Given the description of an element on the screen output the (x, y) to click on. 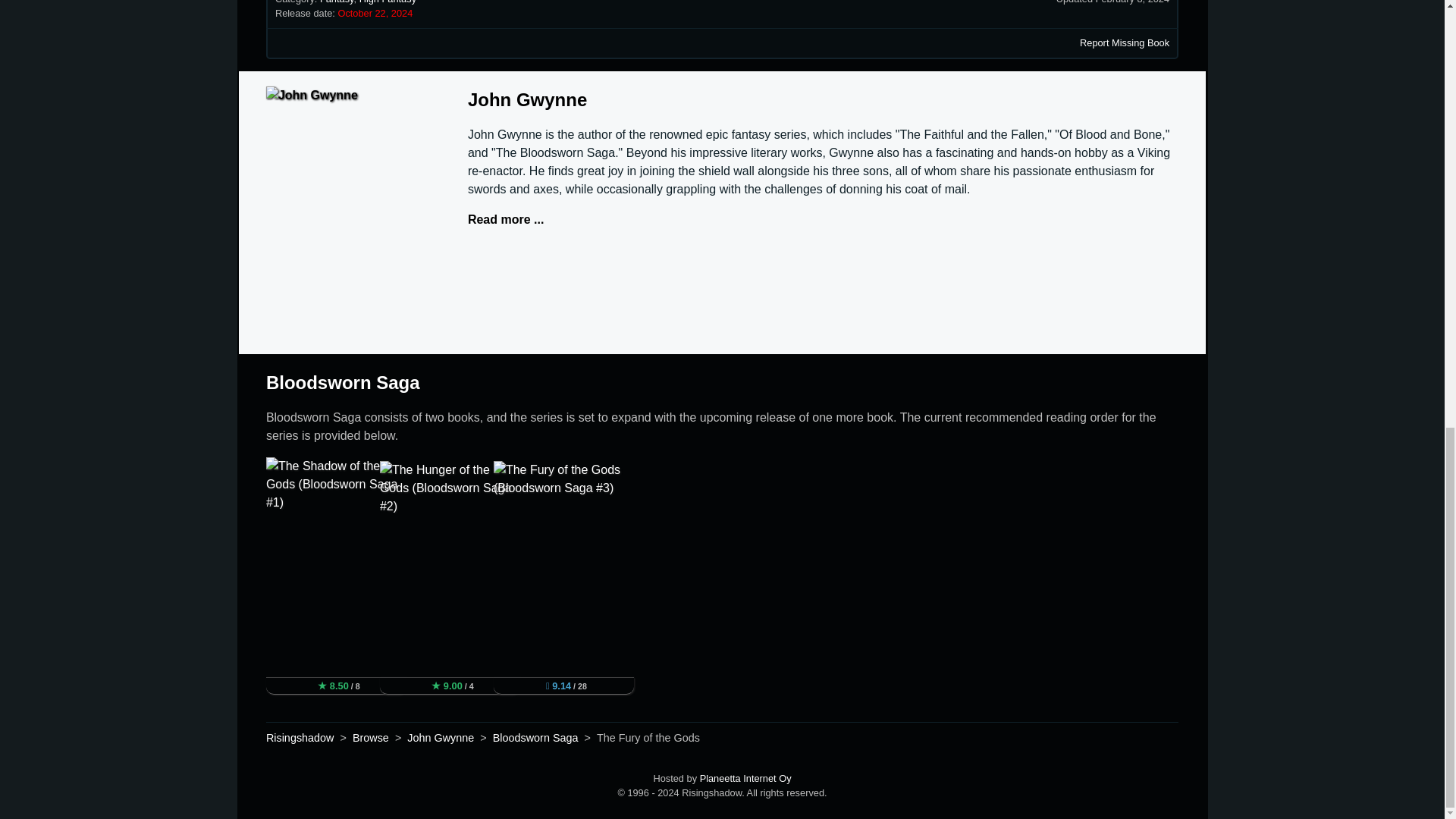
Fantasy (336, 2)
Bloodsworn Saga (343, 382)
John Gwynne (526, 99)
High Fantasy (387, 2)
